Given the description of an element on the screen output the (x, y) to click on. 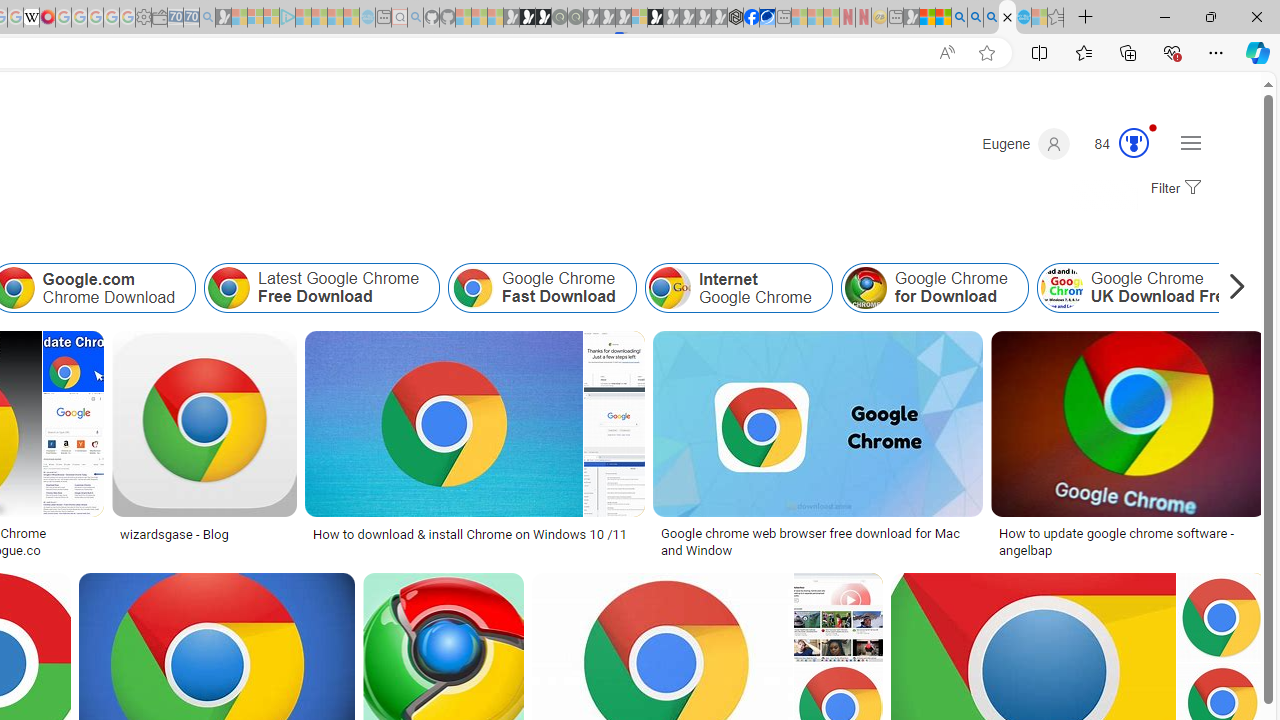
github - Search - Sleeping (415, 17)
Google Chrome Fast Download (542, 287)
Google chrome web browser free download for Mac and Window (817, 541)
Google Chrome Internet Browser Download - Search Images (1007, 17)
How to update google chrome software - angelbapSave (1127, 448)
How to download & install Chrome on Windows 10 /11Save (478, 448)
Favorites - Sleeping (1055, 17)
AutomationID: serp_medal_svg (1133, 142)
